Given the description of an element on the screen output the (x, y) to click on. 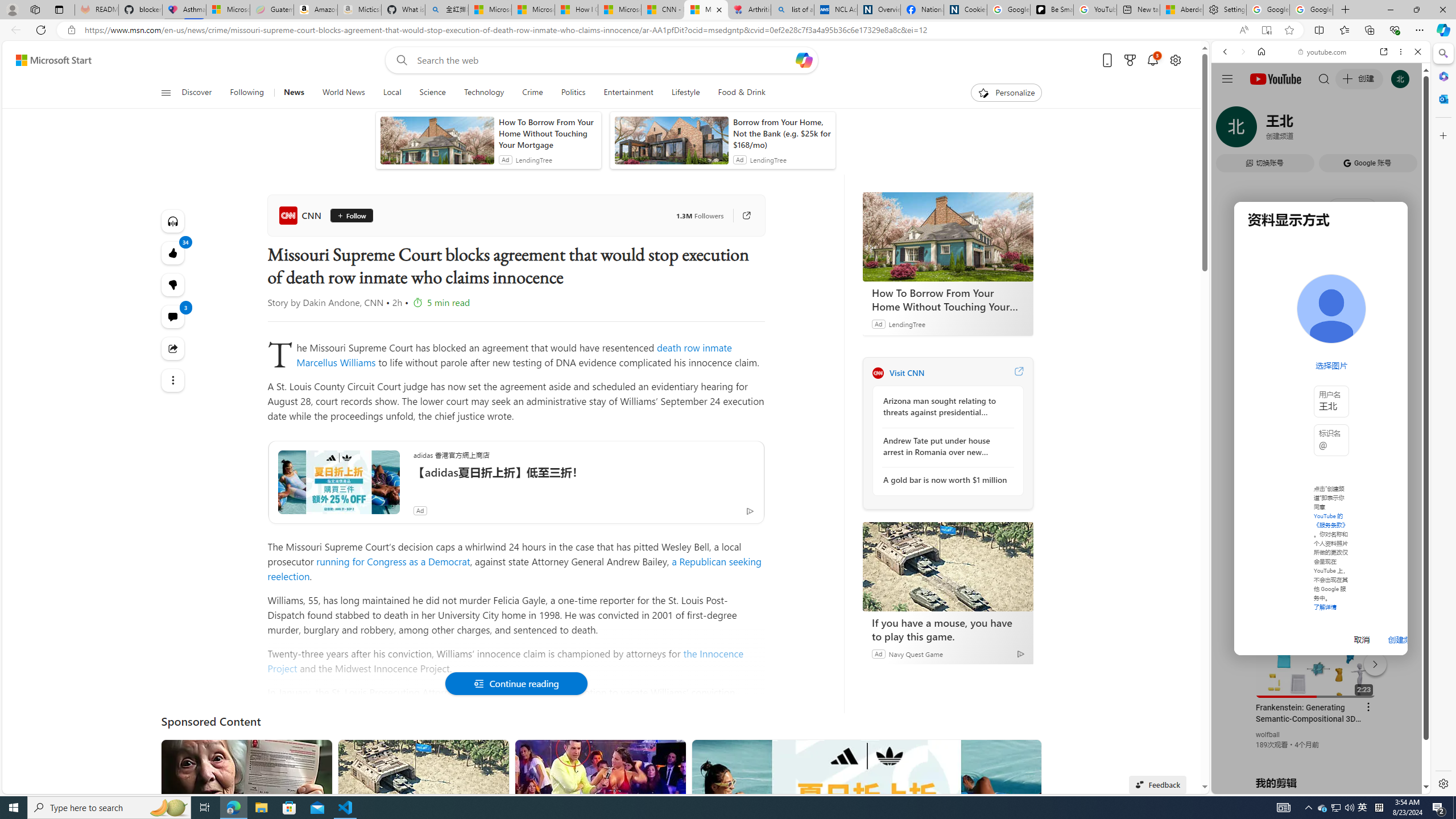
youtube.com (1322, 51)
